Given the description of an element on the screen output the (x, y) to click on. 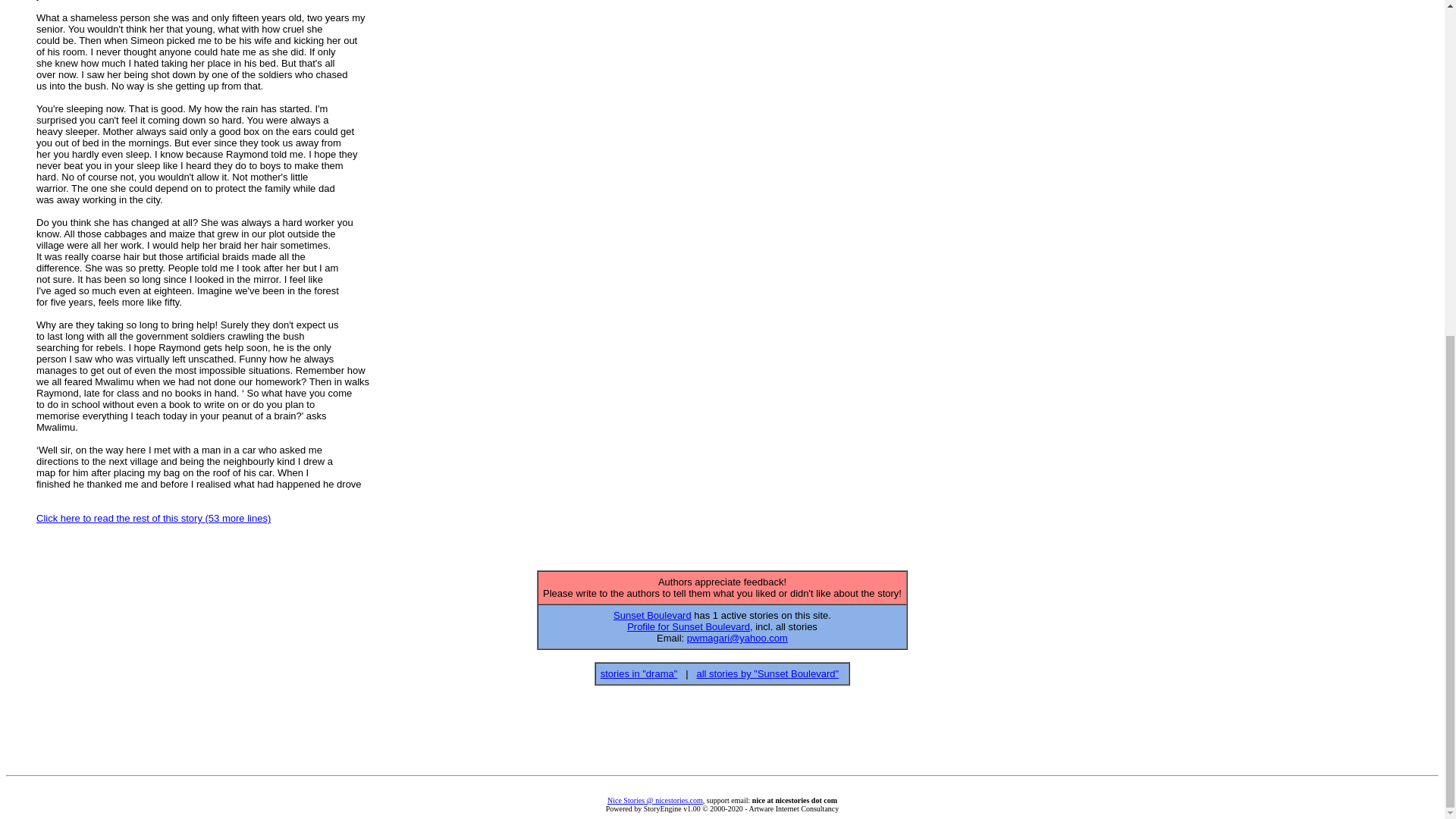
all stories by "Sunset Boulevard" (766, 673)
Sunset Boulevard (651, 614)
stories in "drama" (638, 673)
Profile for Sunset Boulevard (688, 626)
